Given the description of an element on the screen output the (x, y) to click on. 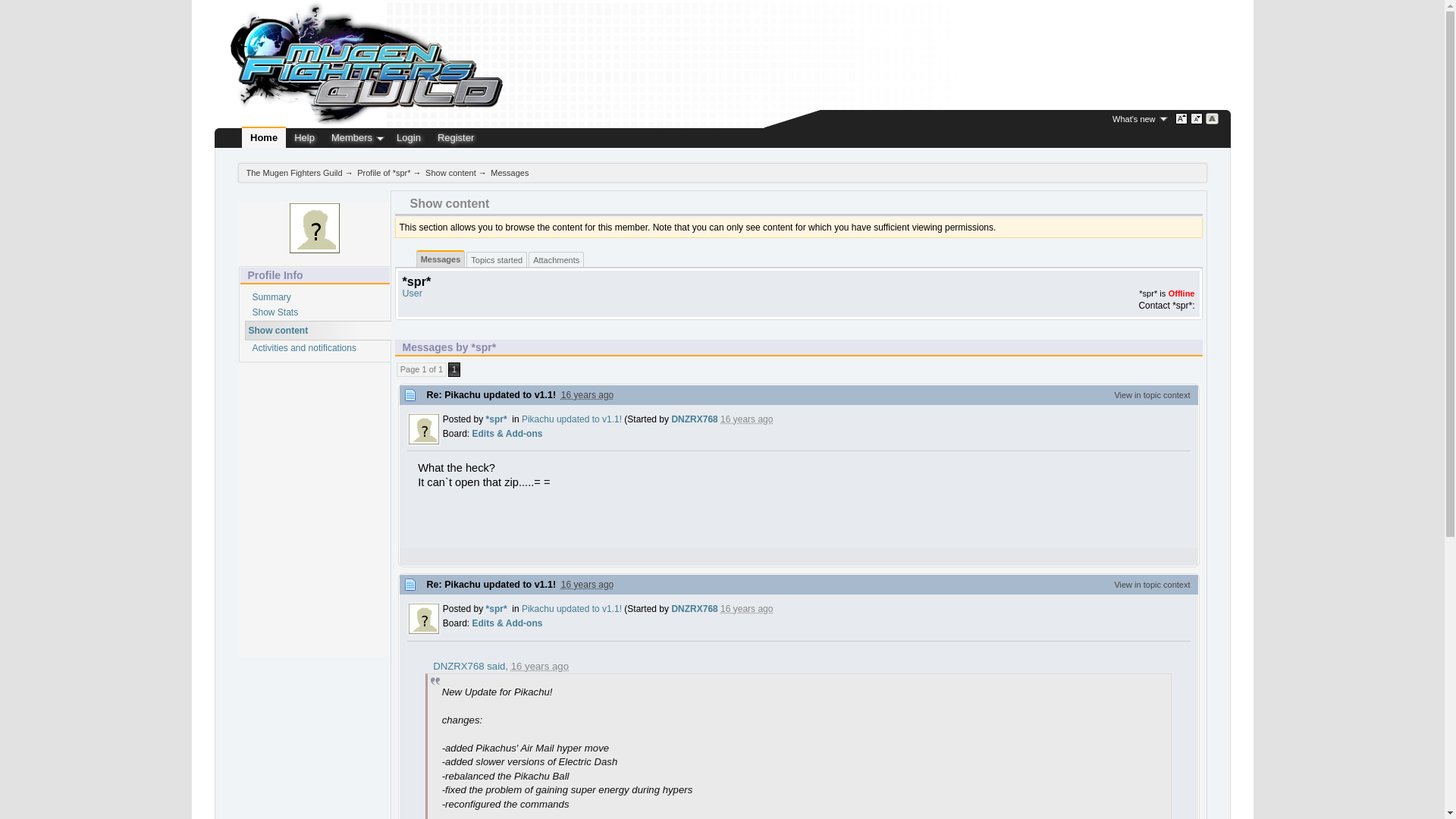
February 24, 2008, 07:47:47 pm (540, 665)
Show content (450, 172)
Decrease text size in posts (1197, 119)
Login (408, 137)
Show content (278, 330)
Messages (440, 261)
Pikachu updated to v1.1! (571, 608)
Show Stats (274, 312)
User (411, 293)
Home (263, 137)
The Mugen Fighters Guild (294, 172)
April 15, 2008, 05:26:48 pm (586, 584)
Members (351, 137)
View in topic context (1151, 394)
Summary (270, 296)
